Given the description of an element on the screen output the (x, y) to click on. 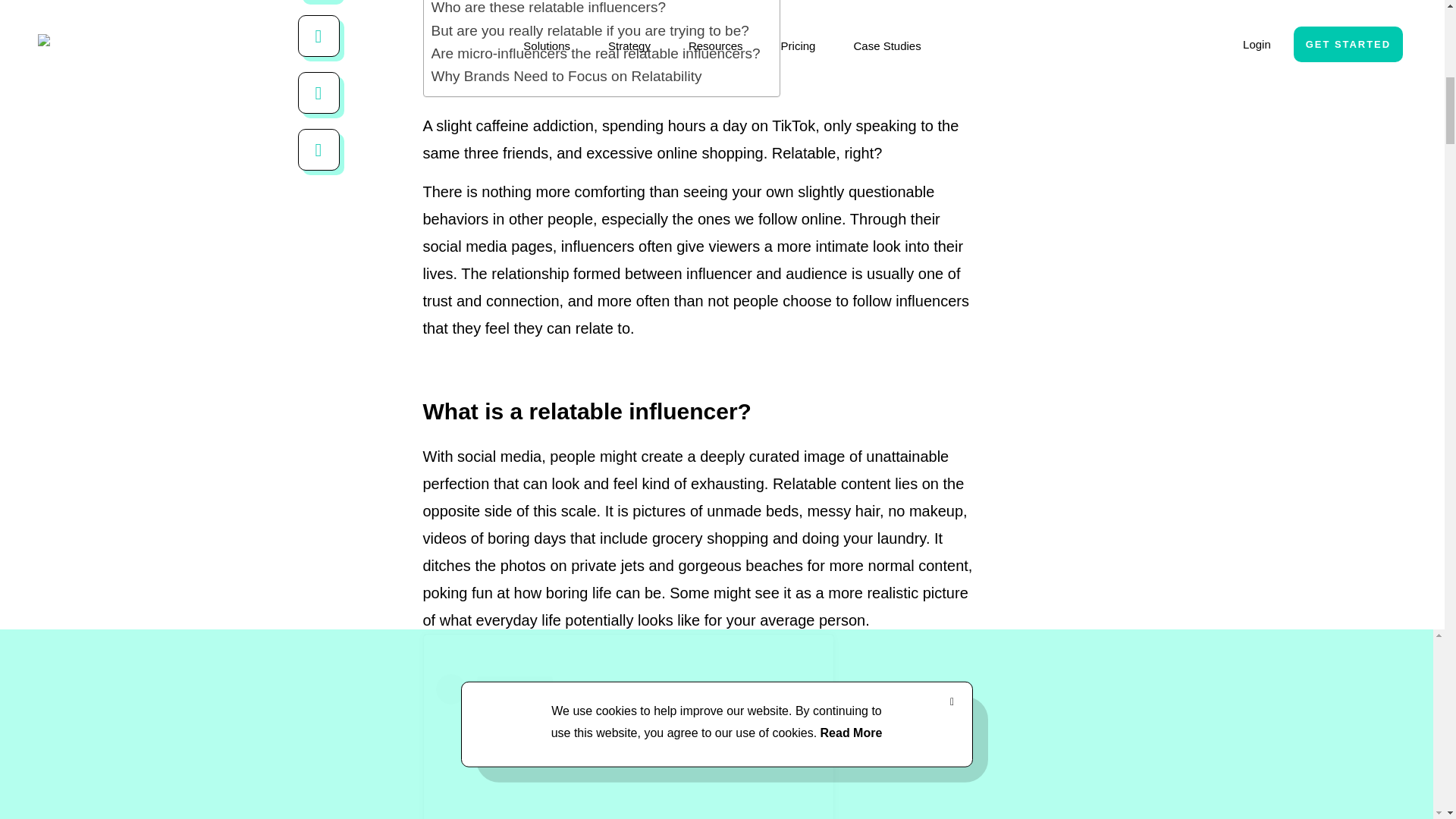
Who are these relatable influencers? (547, 9)
